Given the description of an element on the screen output the (x, y) to click on. 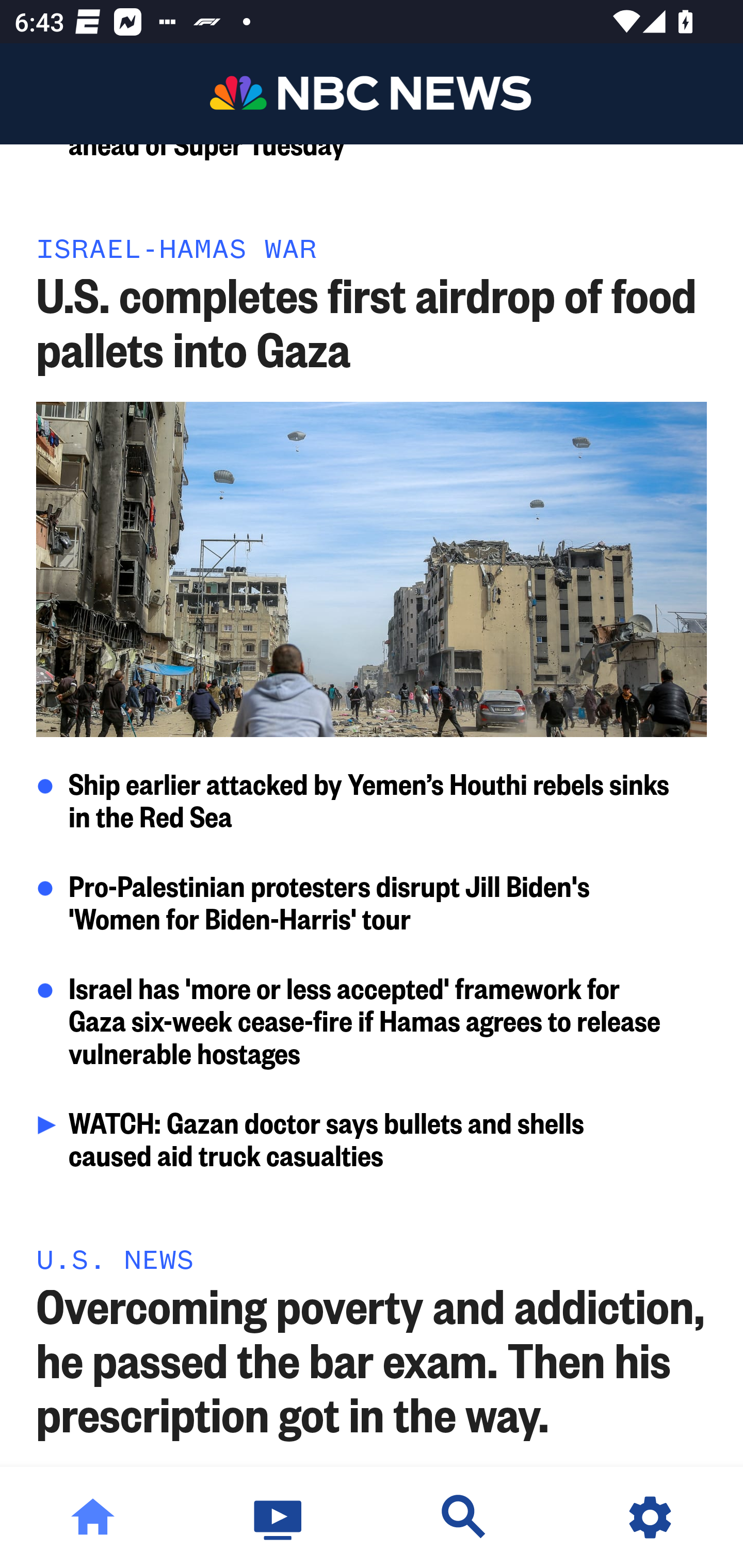
Watch (278, 1517)
Discover (464, 1517)
Settings (650, 1517)
